Given the description of an element on the screen output the (x, y) to click on. 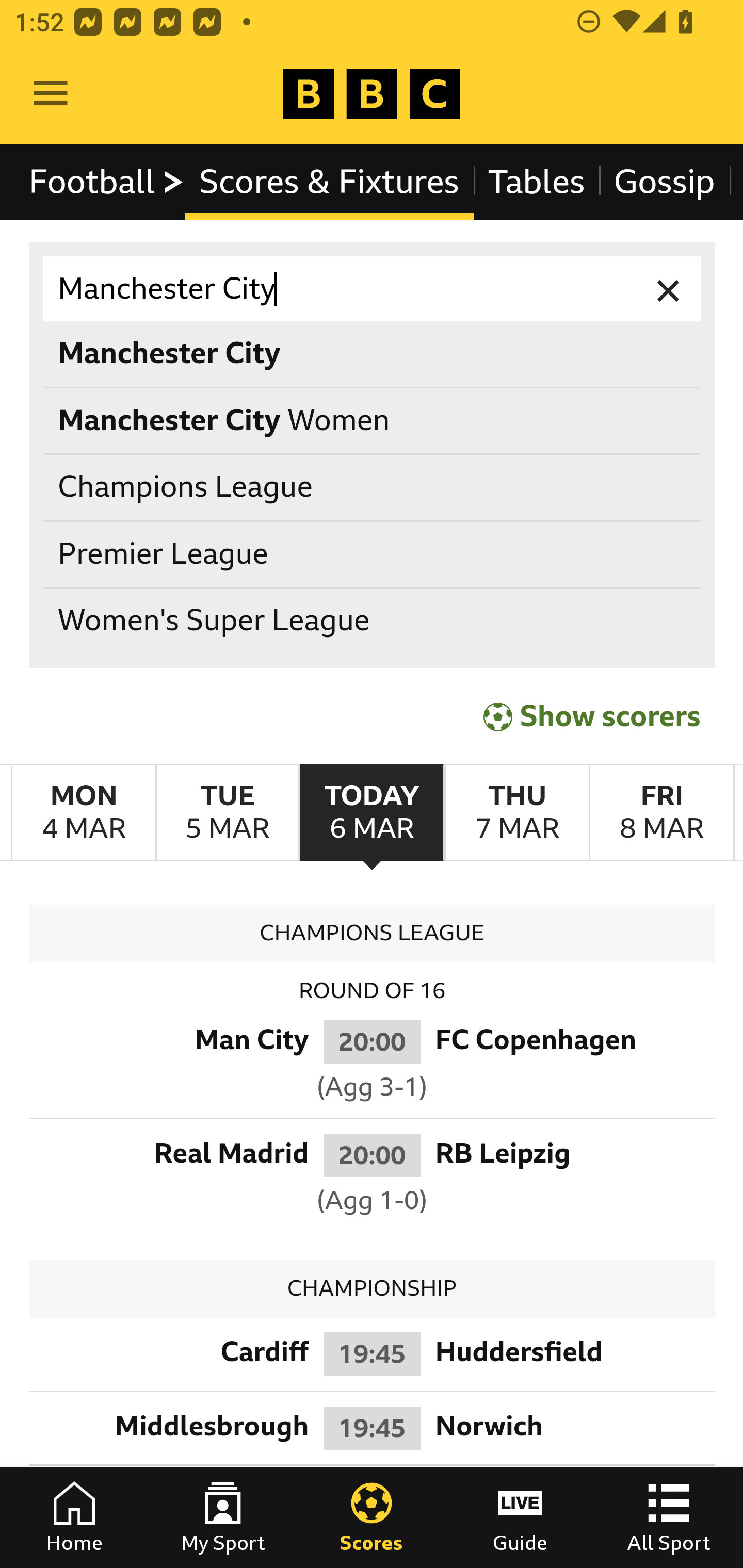
Open Menu (50, 93)
Football  (106, 181)
Scores & Fixtures (329, 181)
Tables (536, 181)
Gossip (664, 181)
Manchester City (372, 289)
Clear input (669, 289)
Manchester City (372, 353)
Manchester City Women Manchester City  Women (372, 419)
Champions League (372, 488)
Premier League (372, 554)
Women's Super League (372, 620)
Show scorers (591, 716)
MondayMarch 4th Monday March 4th (83, 812)
TuesdayMarch 5th Tuesday March 5th (227, 812)
ThursdayMarch 7th Thursday March 7th (516, 812)
FridayMarch 8th Friday March 8th (661, 812)
Home (74, 1517)
My Sport (222, 1517)
Guide (519, 1517)
All Sport (668, 1517)
